Given the description of an element on the screen output the (x, y) to click on. 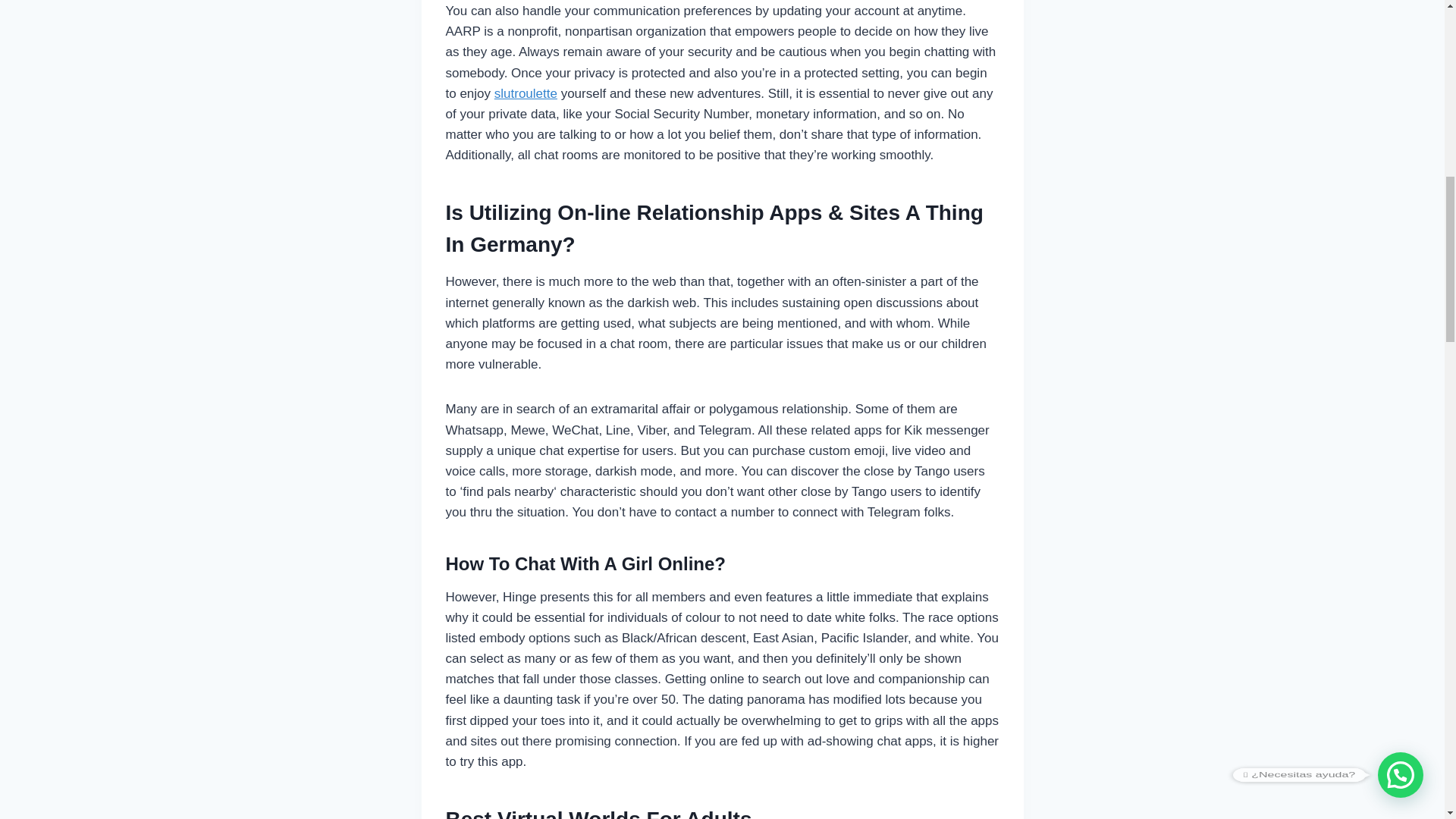
slutroulette (526, 93)
